Given the description of an element on the screen output the (x, y) to click on. 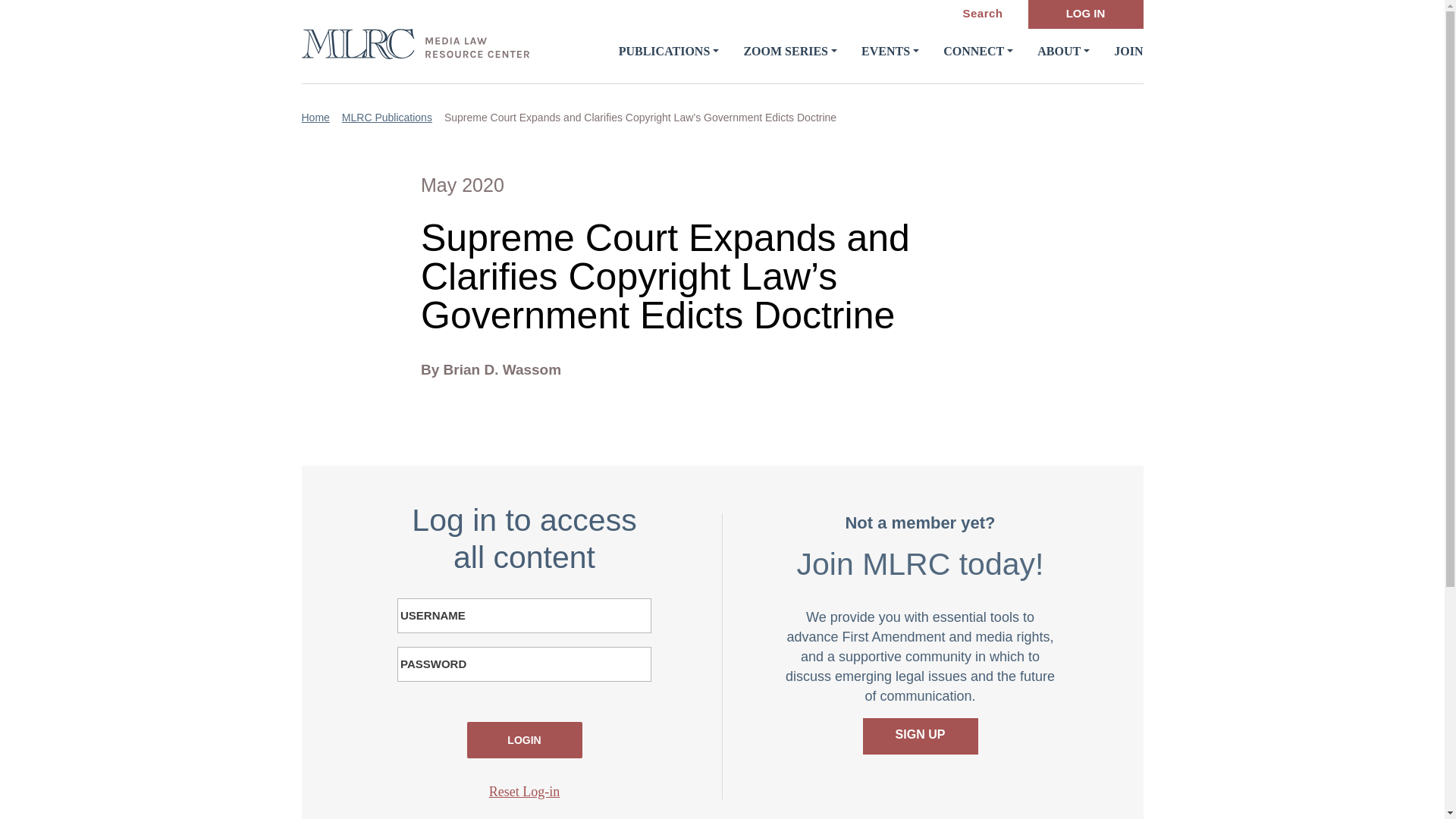
PUBLICATIONS (668, 50)
Go to MLRC Publications. (393, 117)
ZOOM SERIES (789, 50)
Go to Media Law Resource Center. (321, 117)
LOG IN (1084, 14)
CONNECT (978, 50)
EVENTS (889, 50)
JOIN (1127, 50)
ABOUT (1062, 50)
